Given the description of an element on the screen output the (x, y) to click on. 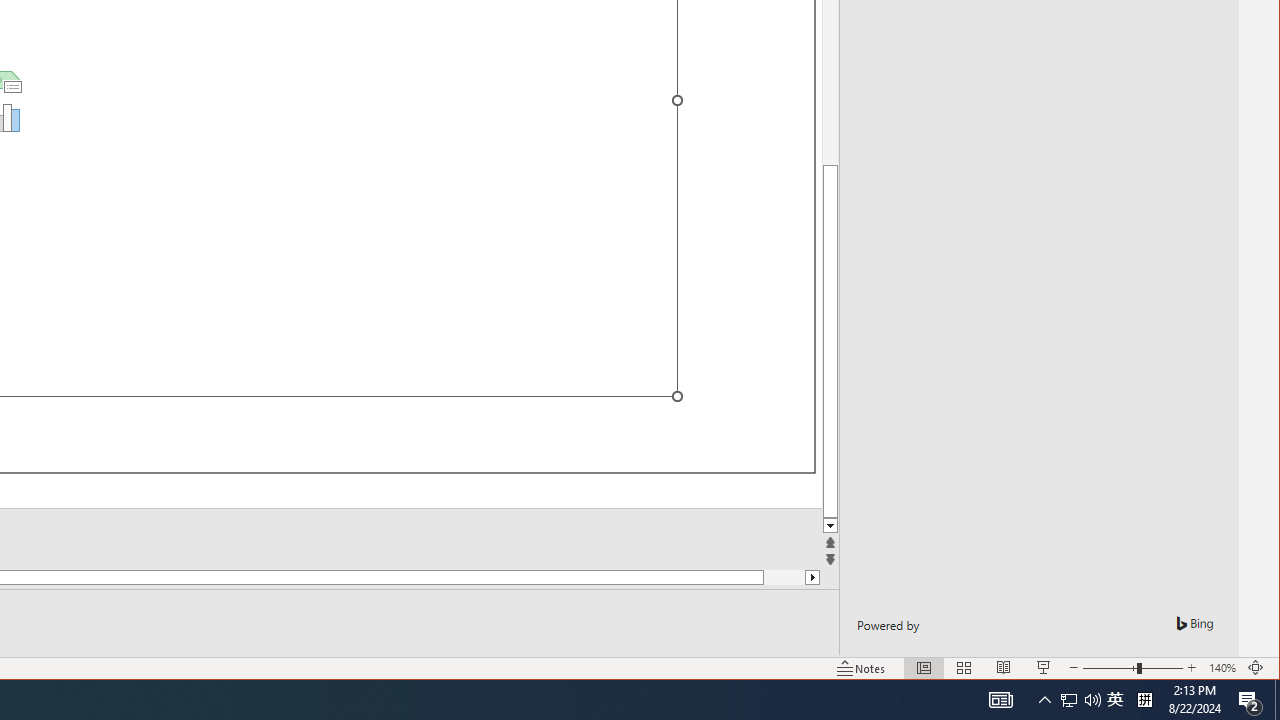
Notes  (861, 668)
Zoom to Fit  (1256, 668)
Normal (923, 668)
Q2790: 100% (1092, 699)
Slide Show (1043, 668)
Action Center, 2 new notifications (1250, 699)
